Given the description of an element on the screen output the (x, y) to click on. 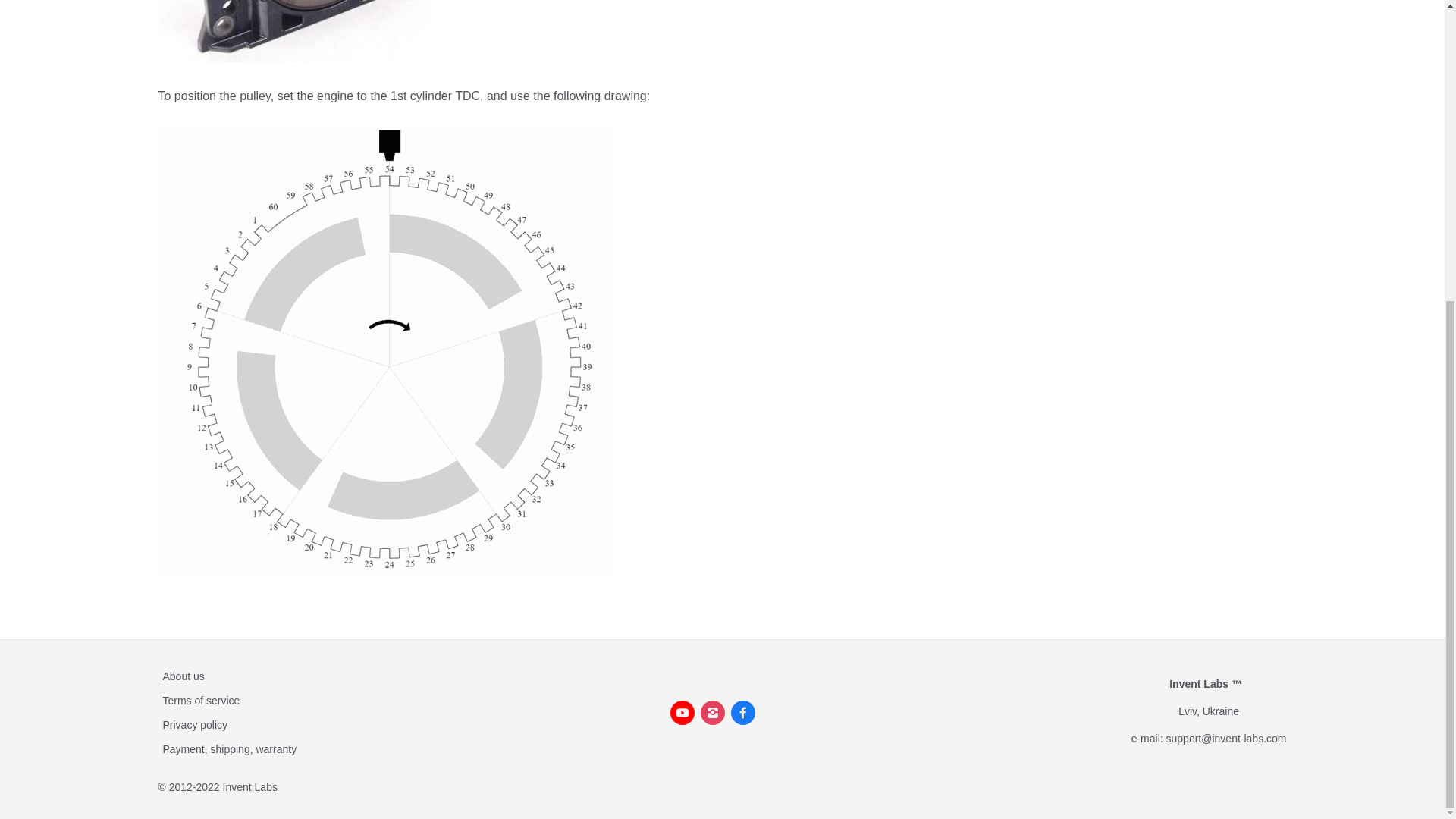
Privacy policy (194, 725)
About us (182, 676)
Terms of service (200, 700)
Payment, shipping, warranty (229, 748)
